Given the description of an element on the screen output the (x, y) to click on. 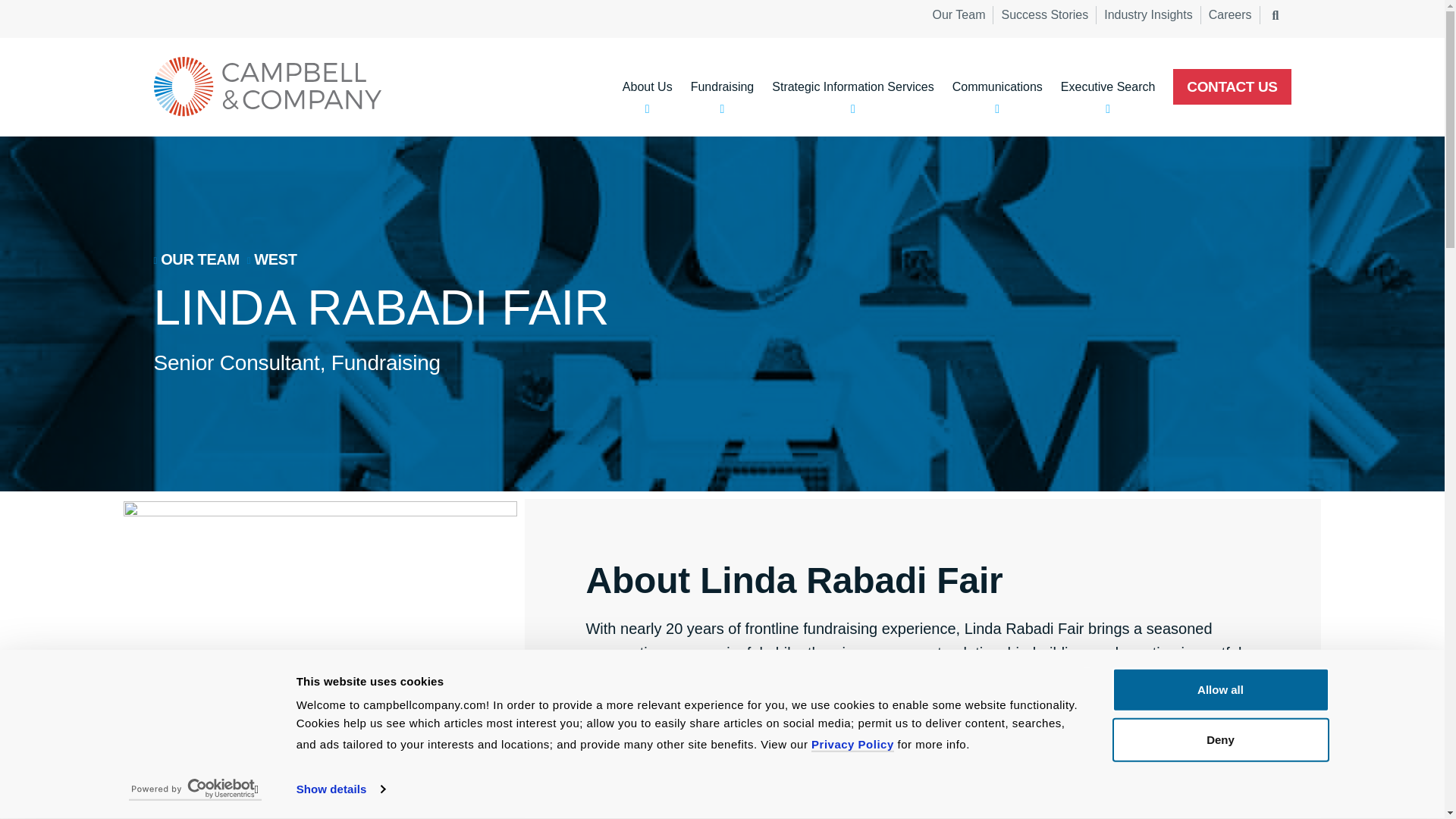
Privacy Policy (851, 744)
Success Stories (1044, 14)
Industry Insights (1148, 14)
Opens a new window (195, 789)
Our Team (959, 14)
Allow all (1219, 689)
Careers (1230, 14)
Show details (340, 789)
Deny (1219, 739)
